Given the description of an element on the screen output the (x, y) to click on. 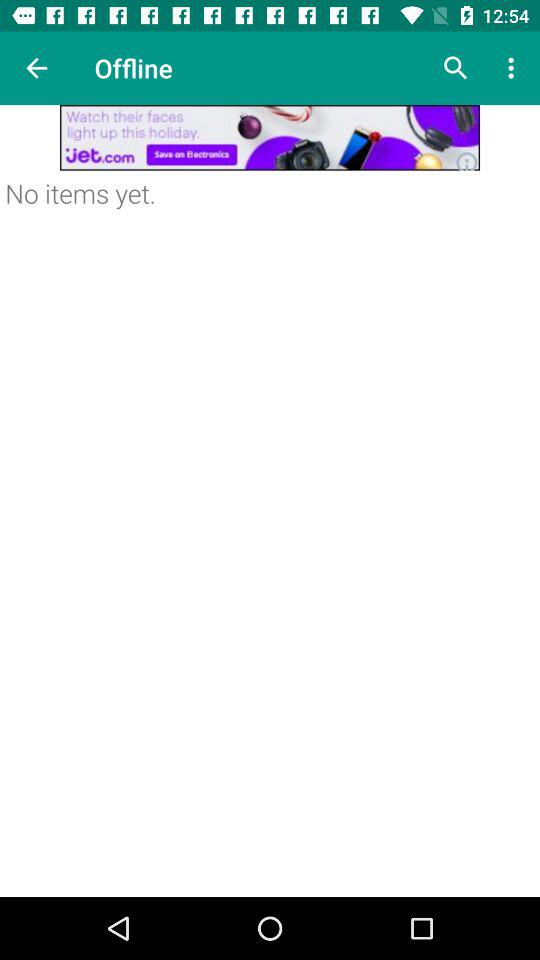
advertisement (270, 137)
